Given the description of an element on the screen output the (x, y) to click on. 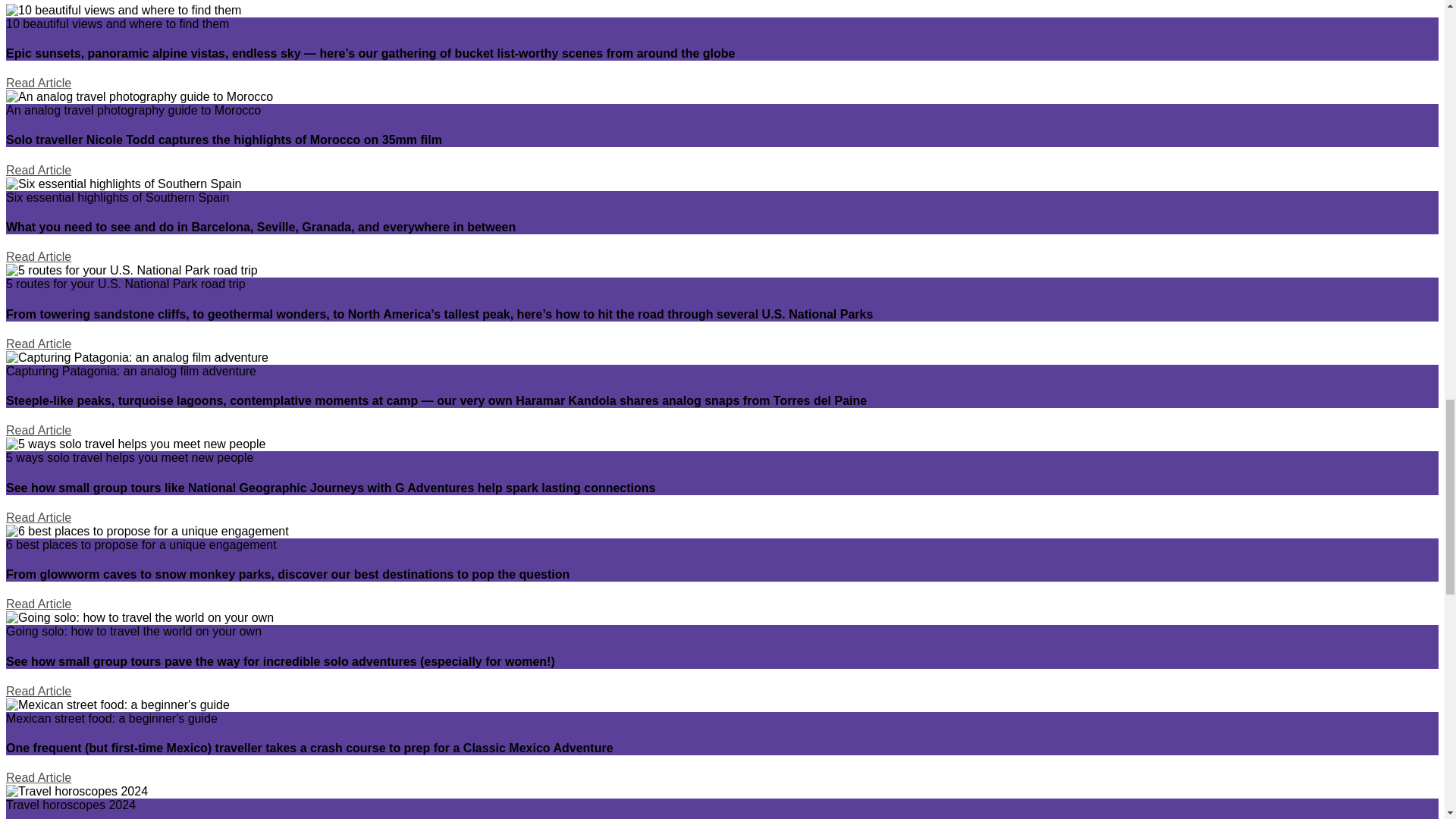
Read Article (38, 430)
Read Article (38, 343)
Read Article (38, 256)
Read Article (38, 169)
Read Article (38, 82)
